Given the description of an element on the screen output the (x, y) to click on. 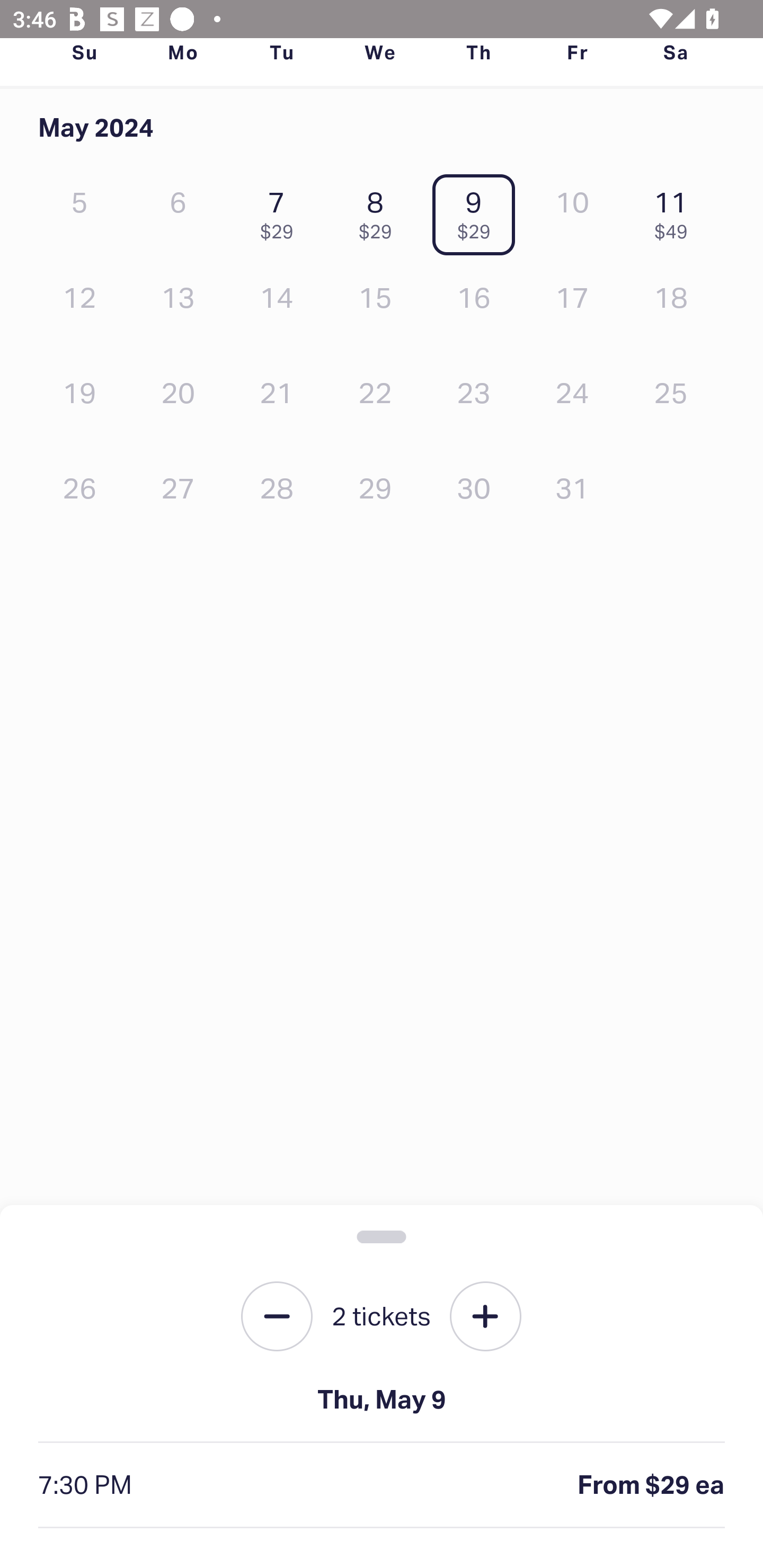
7 $29 (281, 210)
8 $29 (379, 210)
9 $29 (478, 210)
11 $49 (675, 210)
7:30 PM From $29 ea (381, 1485)
